Given the description of an element on the screen output the (x, y) to click on. 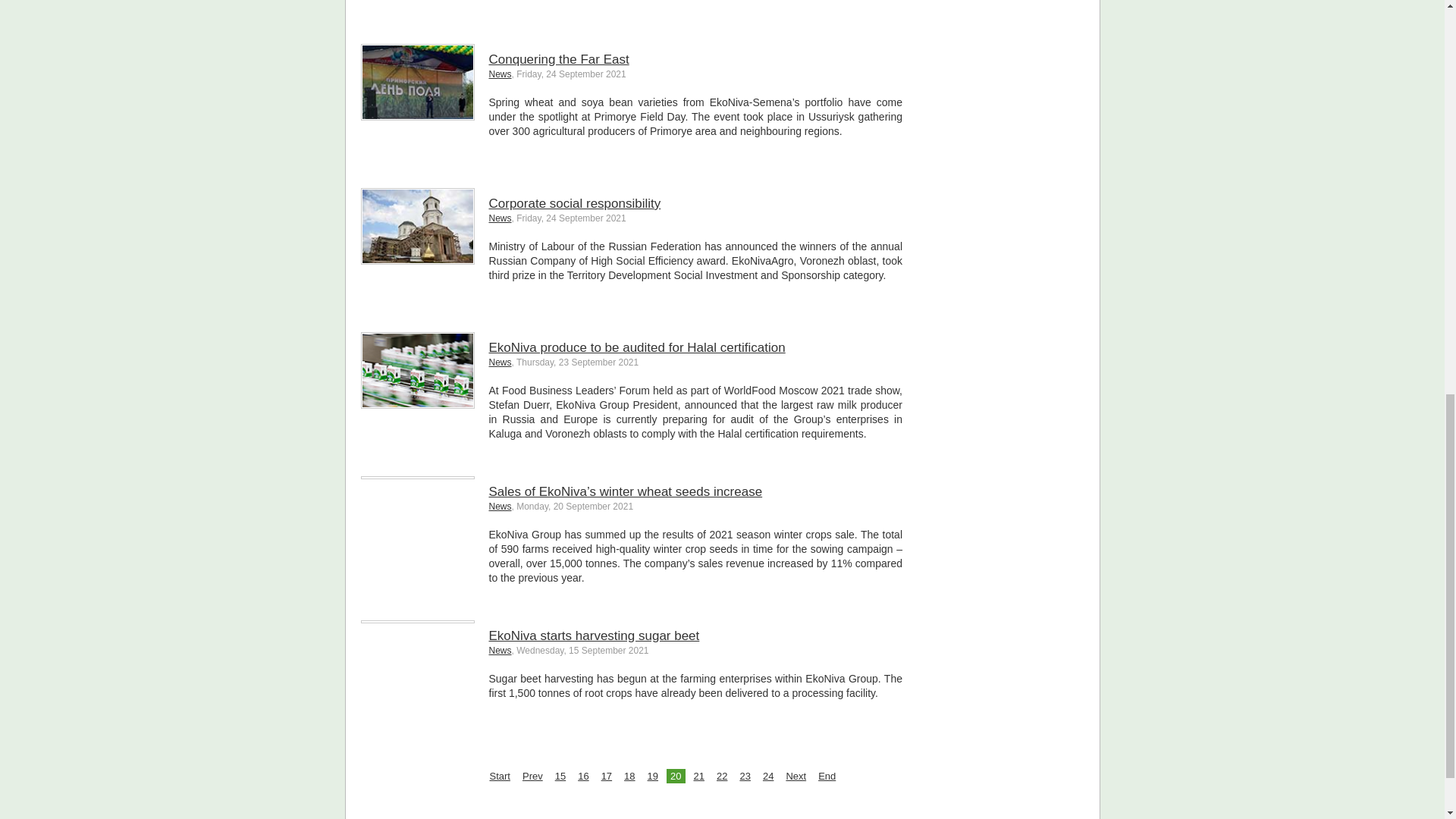
Prev (532, 775)
Start (498, 775)
